Given the description of an element on the screen output the (x, y) to click on. 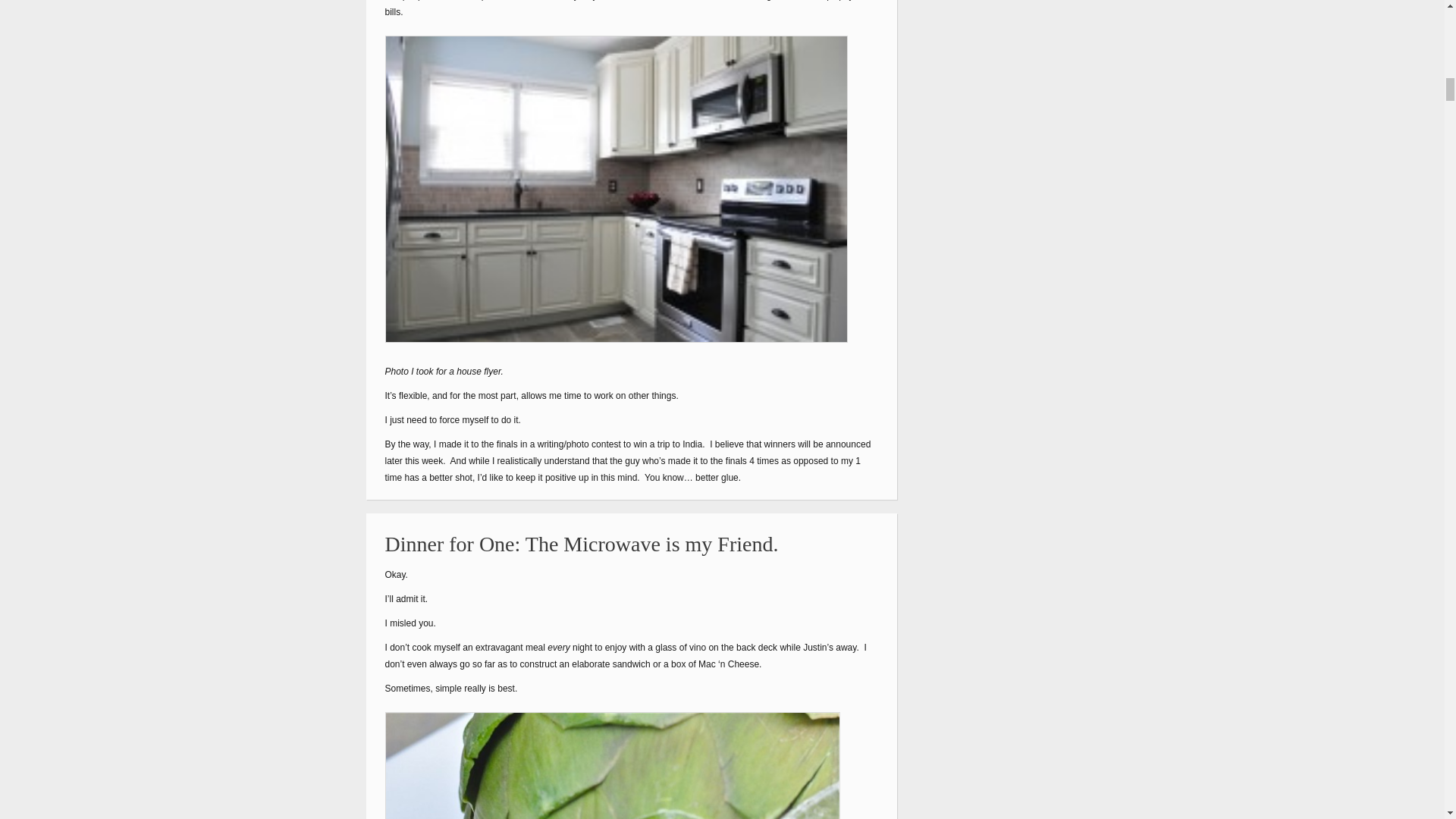
Dinner for One: The Microwave is my Friend. (581, 544)
